Given the description of an element on the screen output the (x, y) to click on. 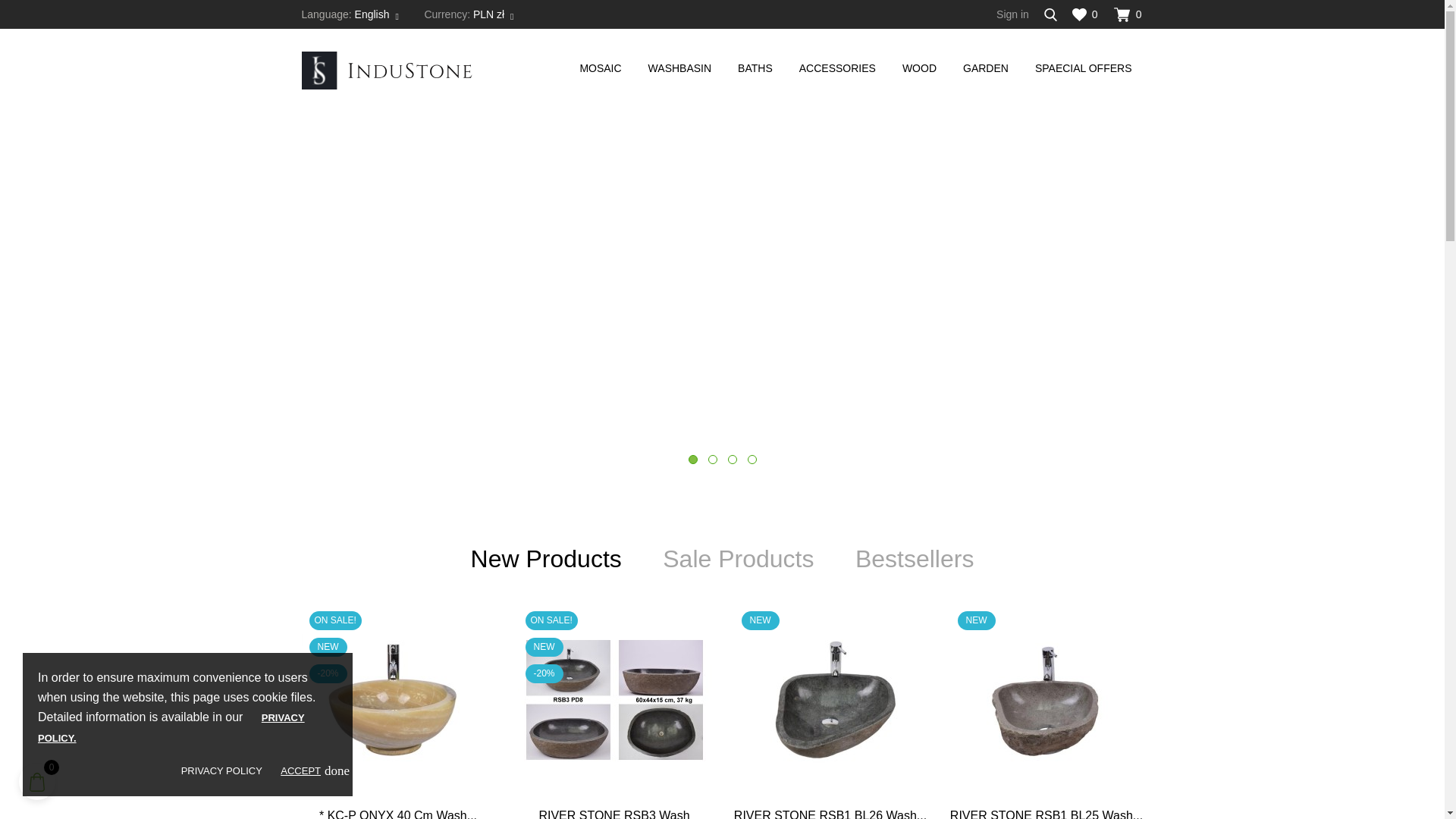
MOSAIC (605, 68)
PRIVACY POLICY (221, 770)
Log in to your customer account (1012, 14)
Sign in (1012, 14)
0 (1127, 14)
0 (1084, 14)
WASHBASIN (685, 68)
My wishlist (1084, 14)
